Given the description of an element on the screen output the (x, y) to click on. 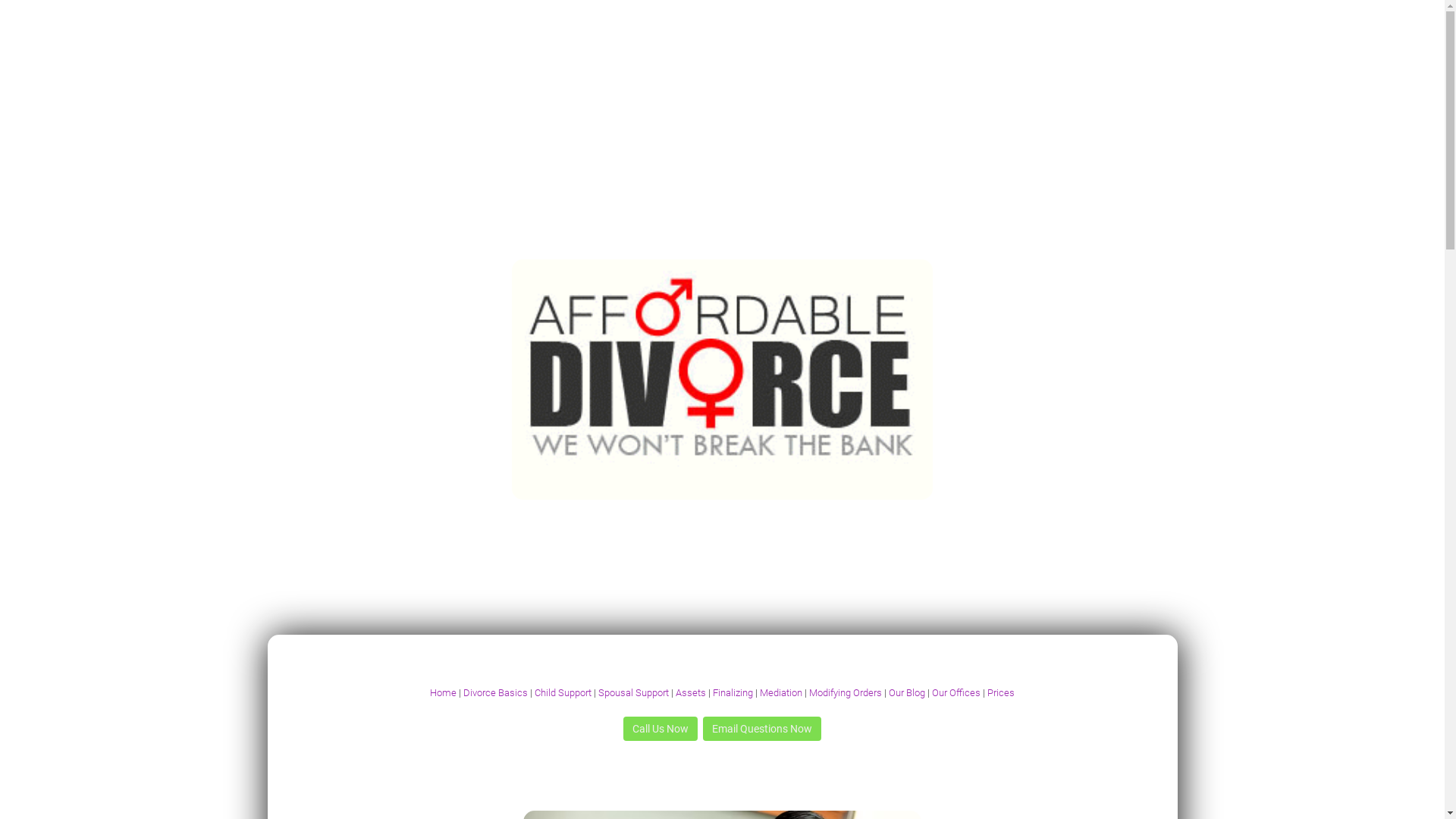
Spousal Support Element type: text (632, 692)
Finalizing Element type: text (732, 692)
Assets Element type: text (690, 692)
Child Support Element type: text (562, 692)
Home Element type: text (442, 692)
Divorce Basics Element type: text (495, 692)
Prices Element type: text (1000, 692)
Call Us Now Element type: text (660, 728)
Our Blog Element type: text (906, 692)
Mediation Element type: text (780, 692)
Modifying Orders Element type: text (845, 692)
Our Offices Element type: text (955, 692)
Email Questions Now Element type: text (761, 728)
